Given the description of an element on the screen output the (x, y) to click on. 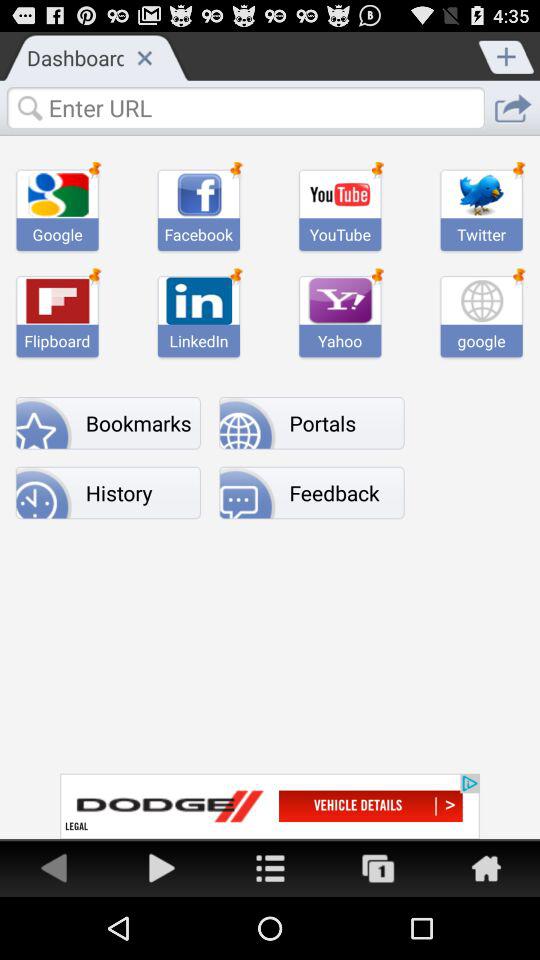
open new tab (507, 55)
